Given the description of an element on the screen output the (x, y) to click on. 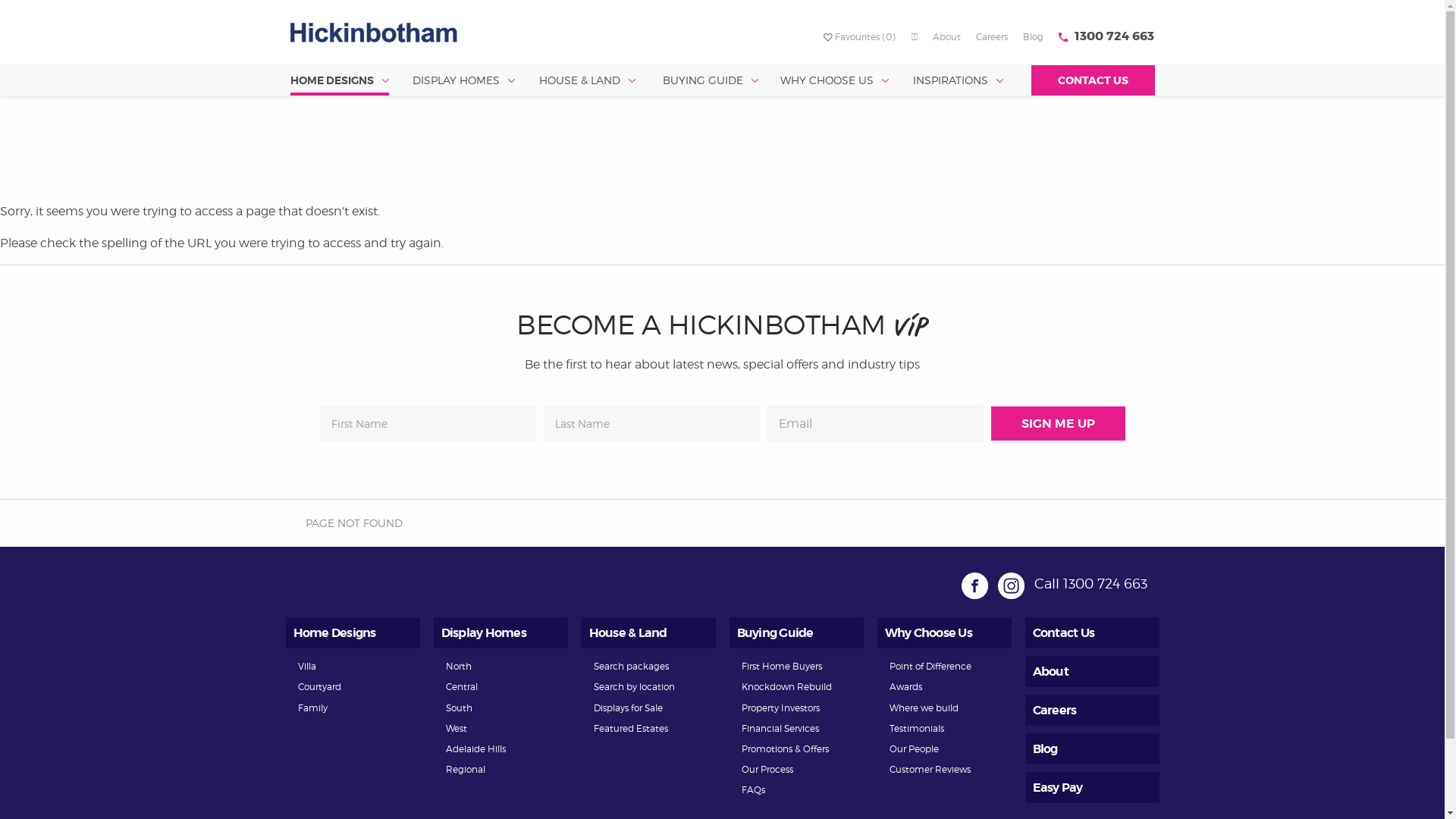
Home Designs Element type: text (333, 632)
Regional Element type: text (465, 769)
Customer Reviews Element type: text (928, 769)
About Element type: text (946, 36)
Careers Element type: text (1054, 710)
WHY CHOOSE US Element type: text (834, 80)
West Element type: text (456, 728)
First Home Buyers Element type: text (781, 665)
Testimonials Element type: text (915, 728)
Search packages Element type: text (630, 665)
Blog Element type: text (1044, 748)
SIGN ME UP Element type: text (1057, 423)
Financial Services Element type: text (780, 728)
Knockdown Rebuild Element type: text (786, 686)
Careers Element type: text (991, 36)
BUYING GUIDE Element type: text (710, 80)
Awards Element type: text (904, 686)
Buying Guide Element type: text (775, 632)
1300 724 663 Element type: text (1105, 583)
Our People Element type: text (913, 748)
Property Investors Element type: text (780, 707)
Favourites (0) Element type: text (859, 36)
Displays for Sale Element type: text (627, 707)
Central Element type: text (461, 686)
Courtyard Element type: text (318, 686)
Point of Difference Element type: text (929, 665)
Where we build Element type: text (922, 707)
Contact Us Element type: text (1063, 632)
Search by location Element type: text (633, 686)
Adelaide Hills Element type: text (475, 748)
HOME DESIGNS Element type: text (338, 80)
South Element type: text (458, 707)
1300 724 663 Element type: text (1114, 35)
FAQs Element type: text (753, 789)
Blog Element type: text (1032, 36)
About Element type: text (1050, 671)
CONTACT US Element type: text (1092, 80)
DISPLAY HOMES Element type: text (463, 80)
Display Homes Element type: text (483, 632)
Easy Pay Element type: text (1057, 787)
Villa Element type: text (306, 665)
Our Process Element type: text (767, 769)
INSPIRATIONS Element type: text (958, 80)
Featured Estates Element type: text (630, 728)
HOUSE & LAND Element type: text (587, 80)
House & Land Element type: text (627, 632)
North Element type: text (458, 665)
Why Choose Us Element type: text (927, 632)
Promotions & Offers Element type: text (784, 748)
Family Element type: text (311, 707)
